Given the description of an element on the screen output the (x, y) to click on. 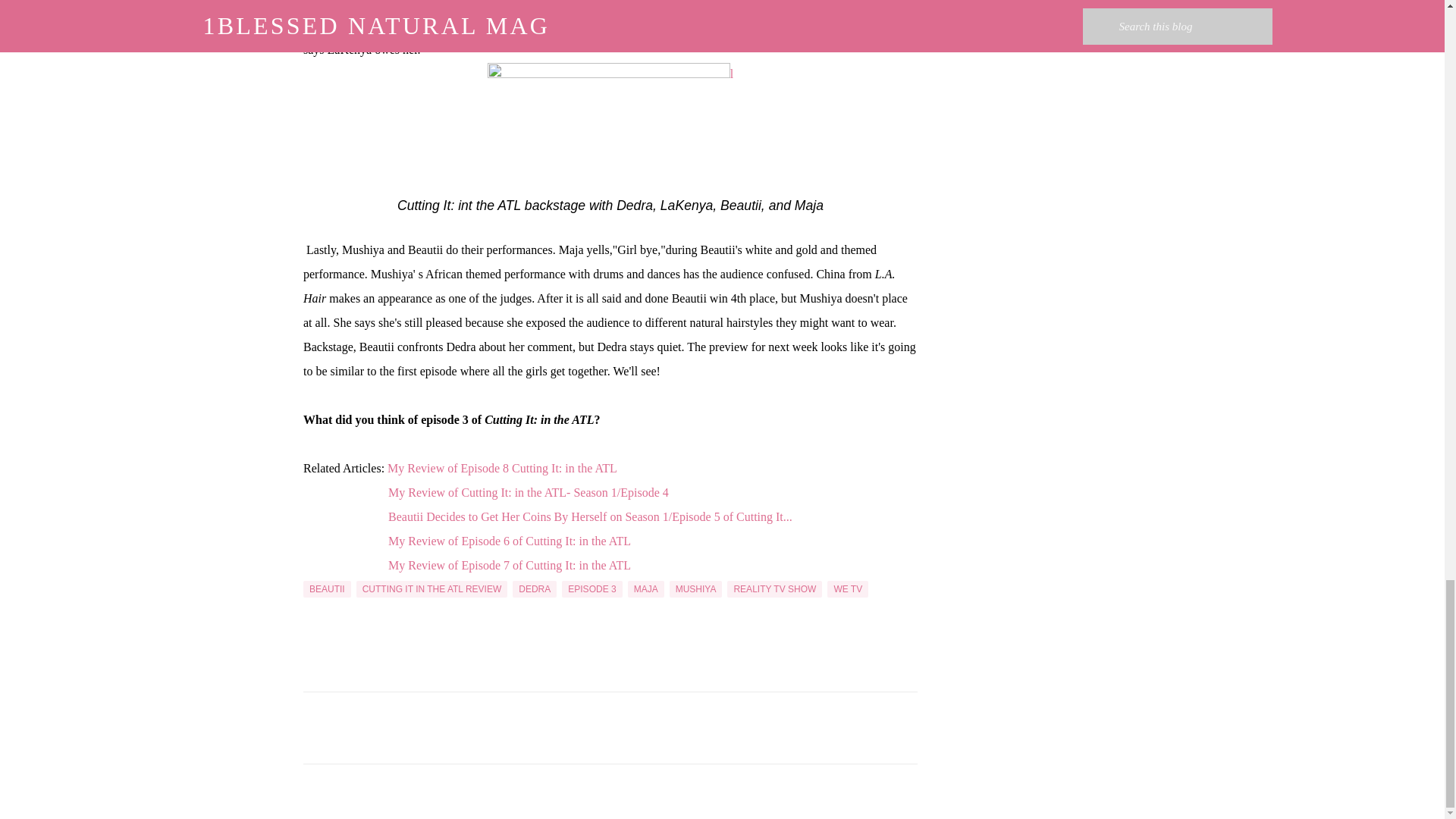
CUTTING IT IN THE ATL REVIEW (432, 588)
WE TV (847, 588)
MAJA (645, 588)
DEDRA (534, 588)
My Review of Episode 7 of Cutting It: in the ATL (509, 564)
My Review of Episode 8 Cutting It: in the ATL (502, 468)
MUSHIYA (695, 588)
l (610, 130)
EPISODE 3 (591, 588)
My Review of Episode 6 of Cutting It: in the ATL (509, 540)
REALITY TV SHOW (774, 588)
BEAUTII (326, 588)
